Given the description of an element on the screen output the (x, y) to click on. 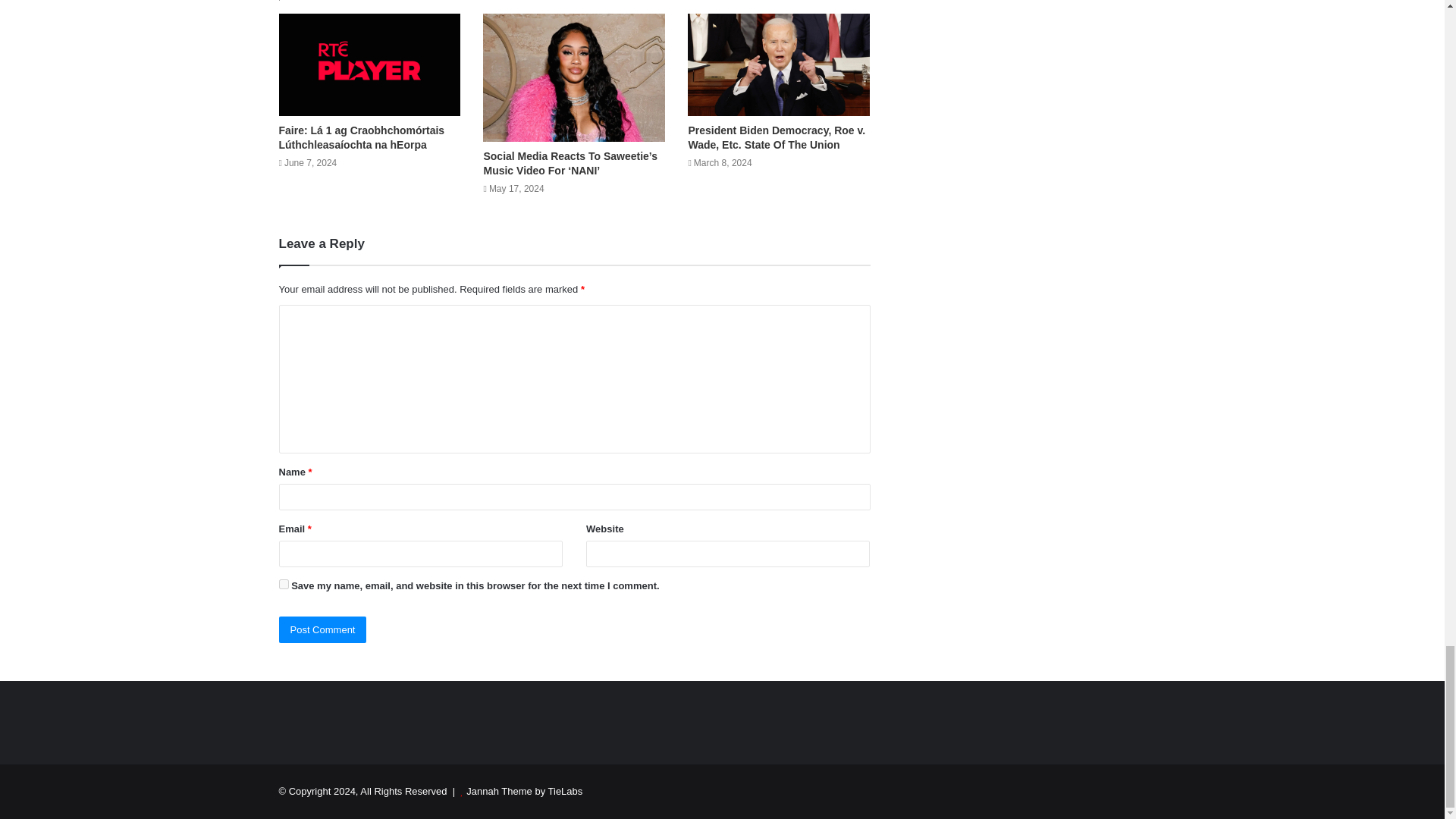
Post Comment (322, 629)
yes (283, 583)
